Given the description of an element on the screen output the (x, y) to click on. 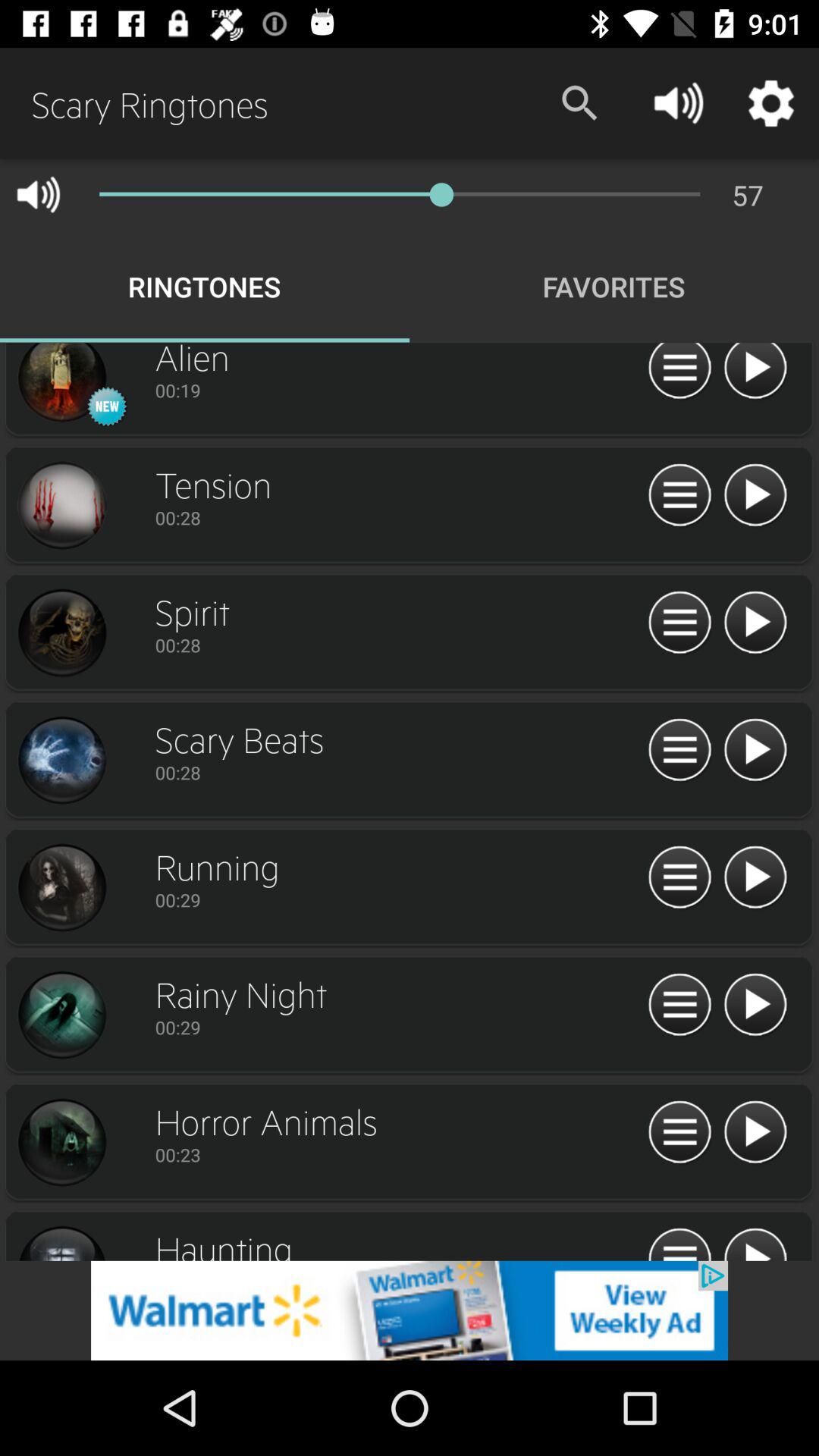
select scary beats option (61, 760)
